Given the description of an element on the screen output the (x, y) to click on. 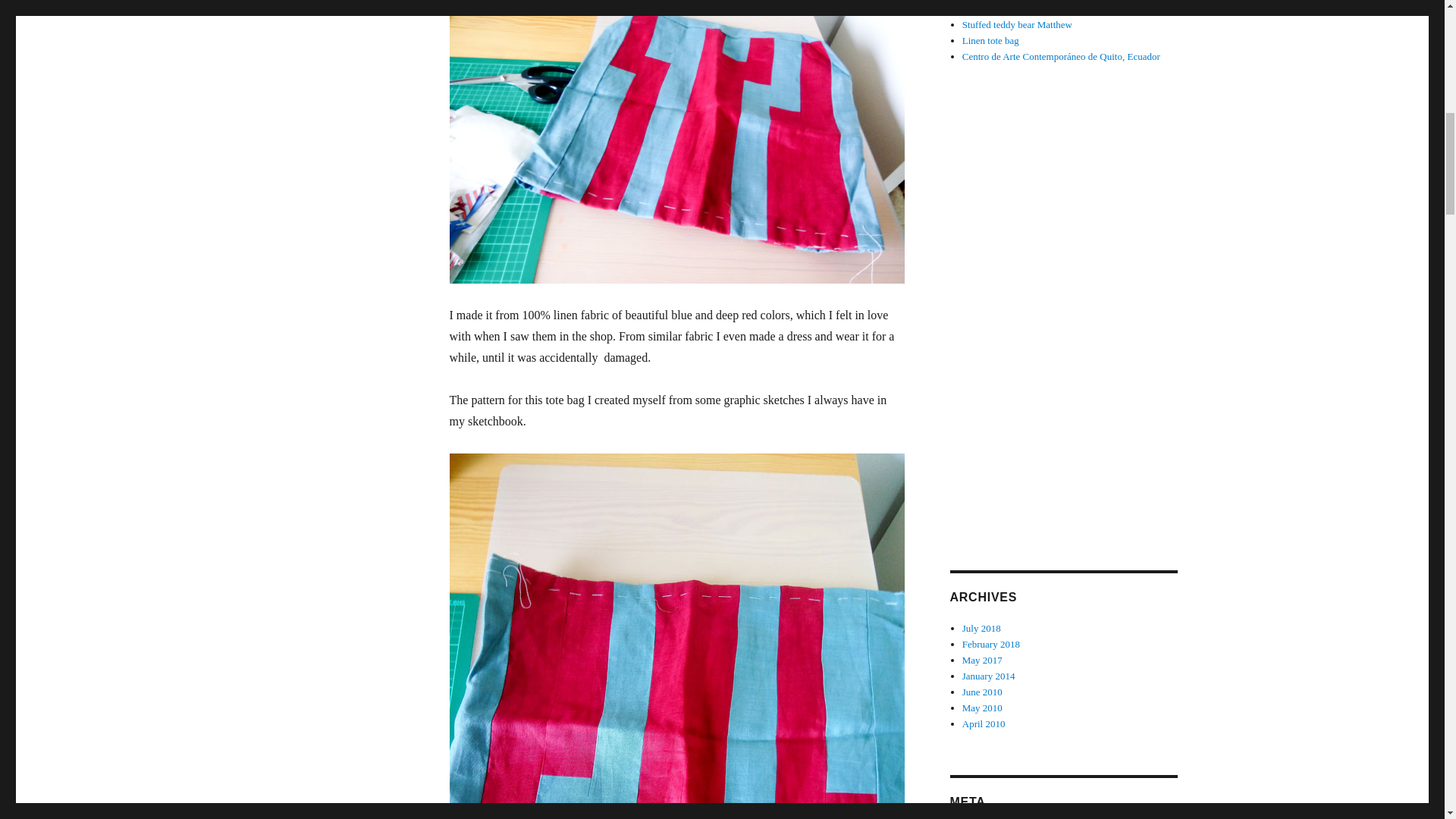
June 2010 (982, 691)
Stuffed teddy bear Matthew (1016, 24)
May 2010 (982, 707)
July 2018 (981, 627)
May 2017 (982, 659)
Advertisement (1065, 300)
February 2018 (991, 644)
Linen tote bag (990, 40)
January 2014 (988, 675)
Sunset from Ban Ampur beach, Thailand (1043, 8)
April 2010 (984, 723)
